Given the description of an element on the screen output the (x, y) to click on. 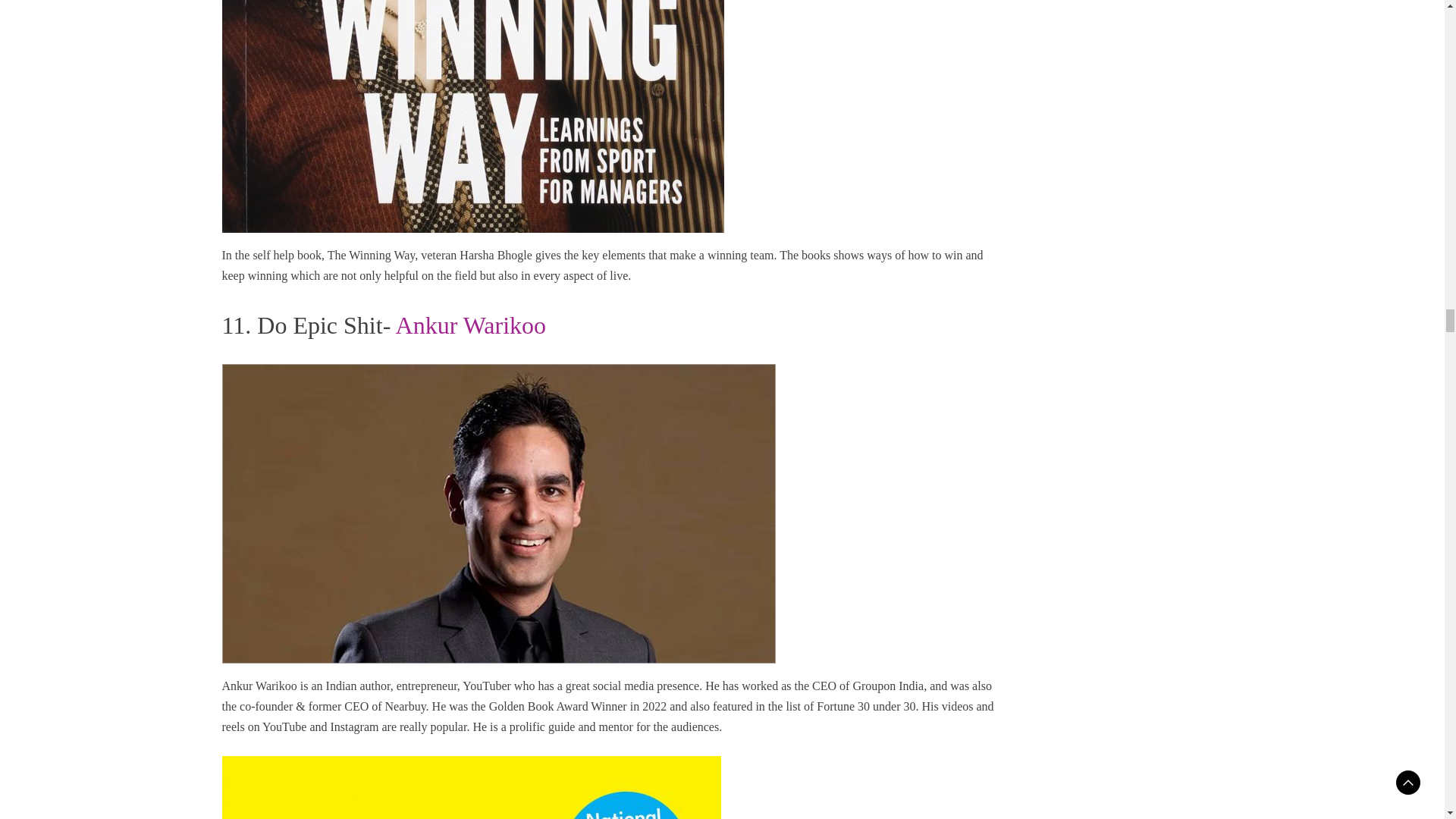
Ankur Warikoo (471, 325)
